Given the description of an element on the screen output the (x, y) to click on. 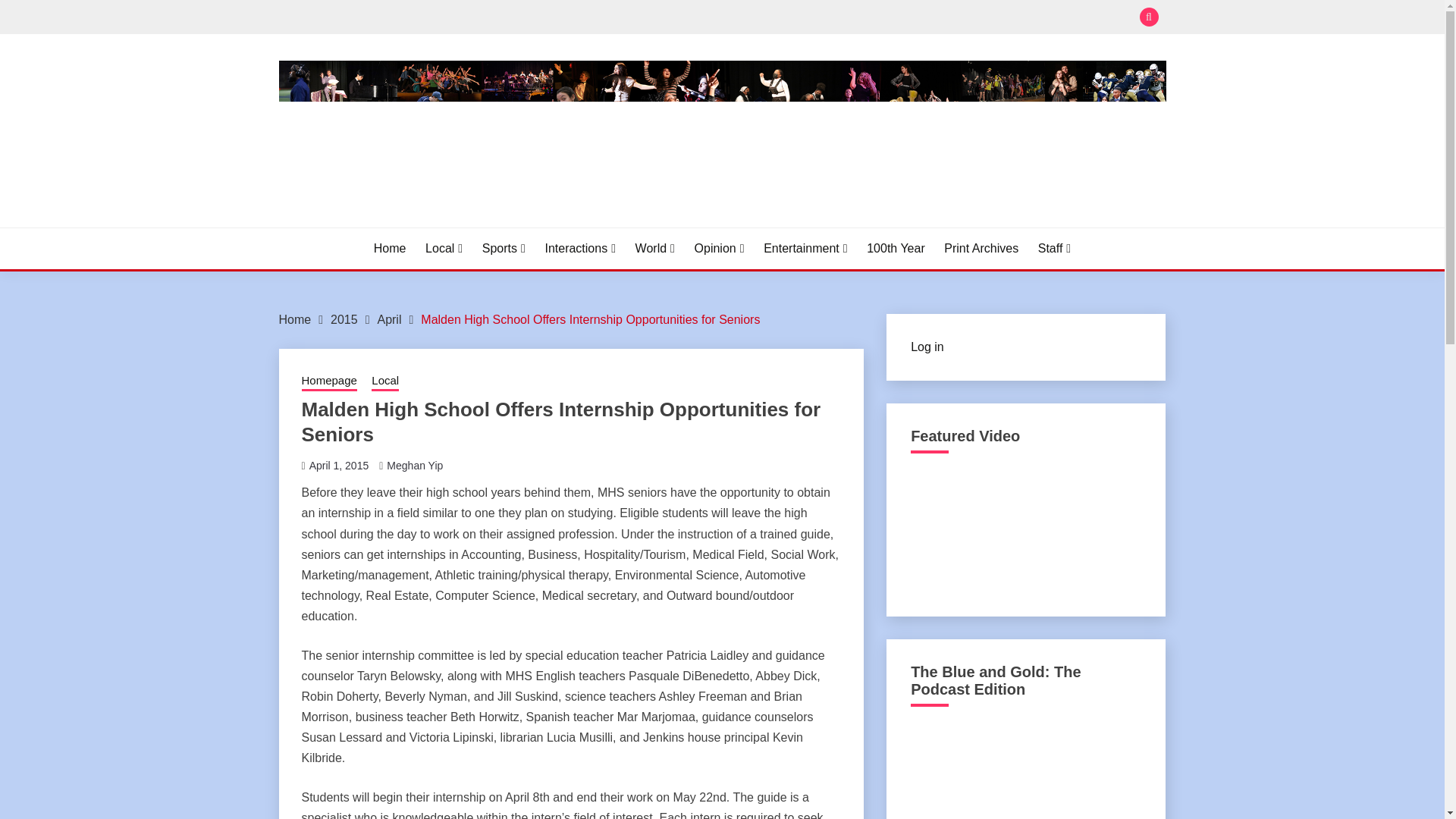
Home (390, 248)
YouTube video player (1024, 530)
Print Archives (980, 248)
Opinion (719, 248)
Home (295, 318)
Staff (1054, 248)
THE BLUE AND GOLD (426, 224)
Entertainment (804, 248)
100th Year (895, 248)
April (389, 318)
2015 (344, 318)
World (654, 248)
Local (444, 248)
Interactions (579, 248)
